Given the description of an element on the screen output the (x, y) to click on. 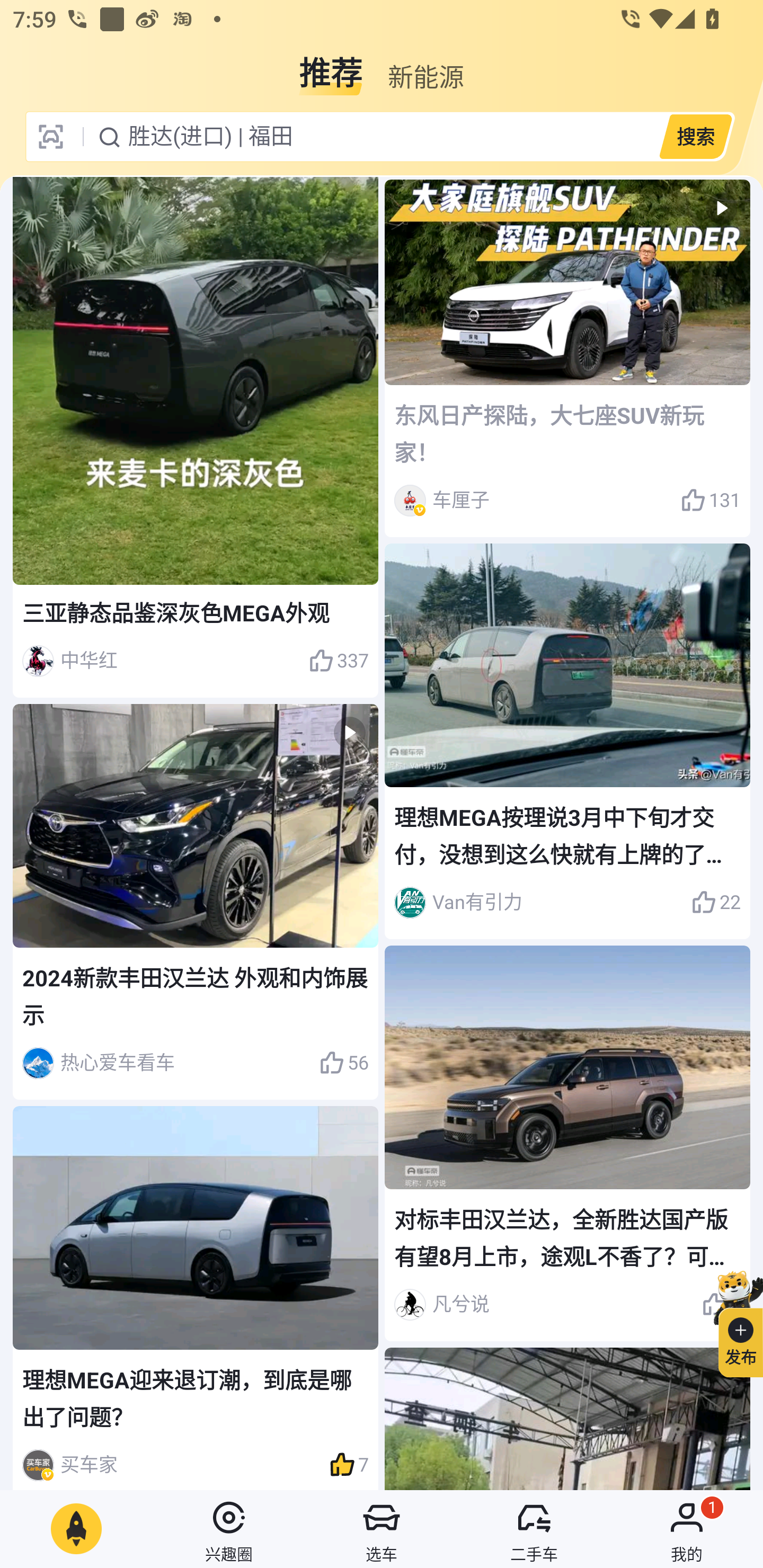
推荐 (330, 65)
新能源 (425, 65)
搜索 (695, 136)
三亚静态品鉴深灰色MEGA外观 中华红 337 (195, 437)
 东风日产探陆，大七座SUV新玩家！ 车厘子 131 (567, 358)
131 (710, 499)
337 (338, 660)
 2024新款丰田汉兰达 外观和内饰展示 热心爱车看车 56 (195, 901)
22 (715, 902)
56 (343, 1062)
理想MEGA迎来退订潮，到底是哪出了问题？ 买车家 7 (195, 1297)
发布 (732, 1321)
7 (348, 1464)
 兴趣圈 (228, 1528)
 选车 (381, 1528)
 二手车 (533, 1528)
 我的 (686, 1528)
